Given the description of an element on the screen output the (x, y) to click on. 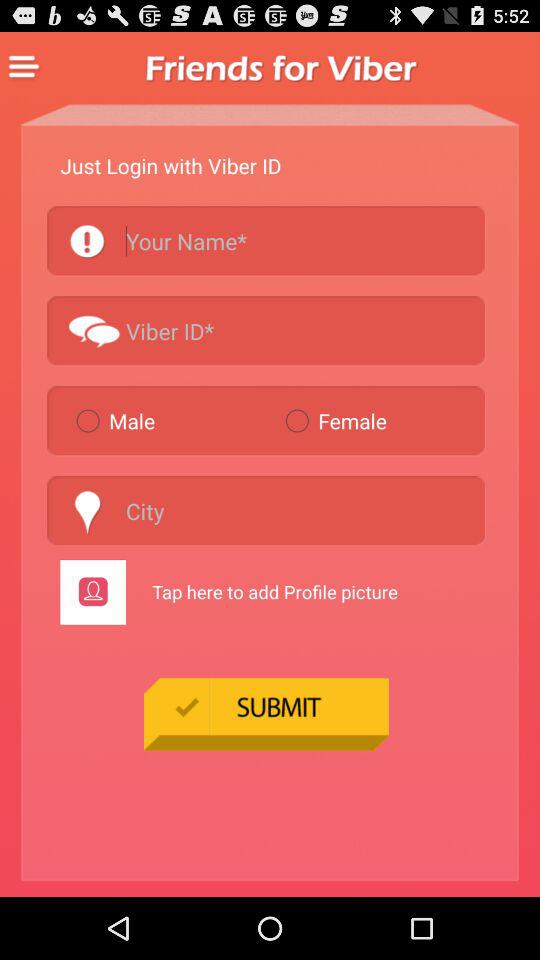
enter city (266, 510)
